Given the description of an element on the screen output the (x, y) to click on. 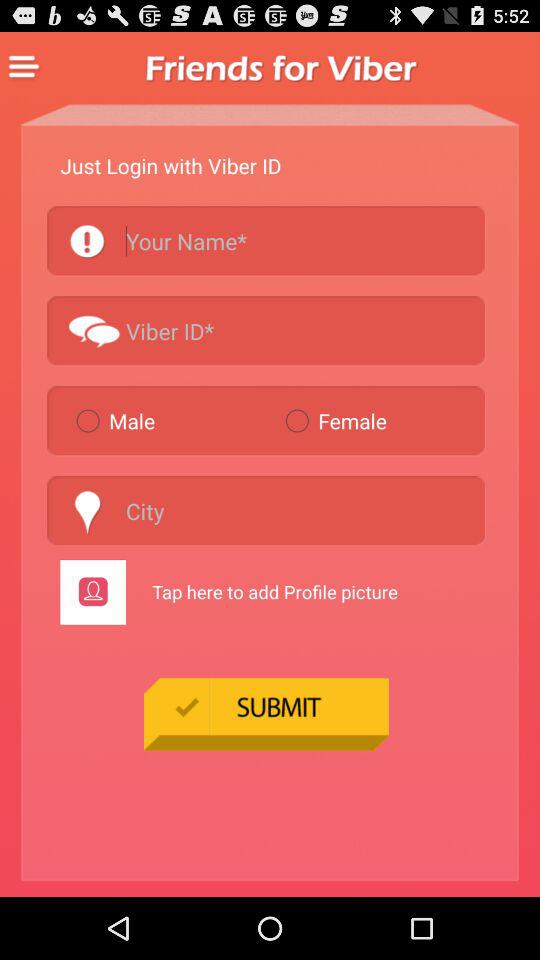
enter city (266, 510)
